Given the description of an element on the screen output the (x, y) to click on. 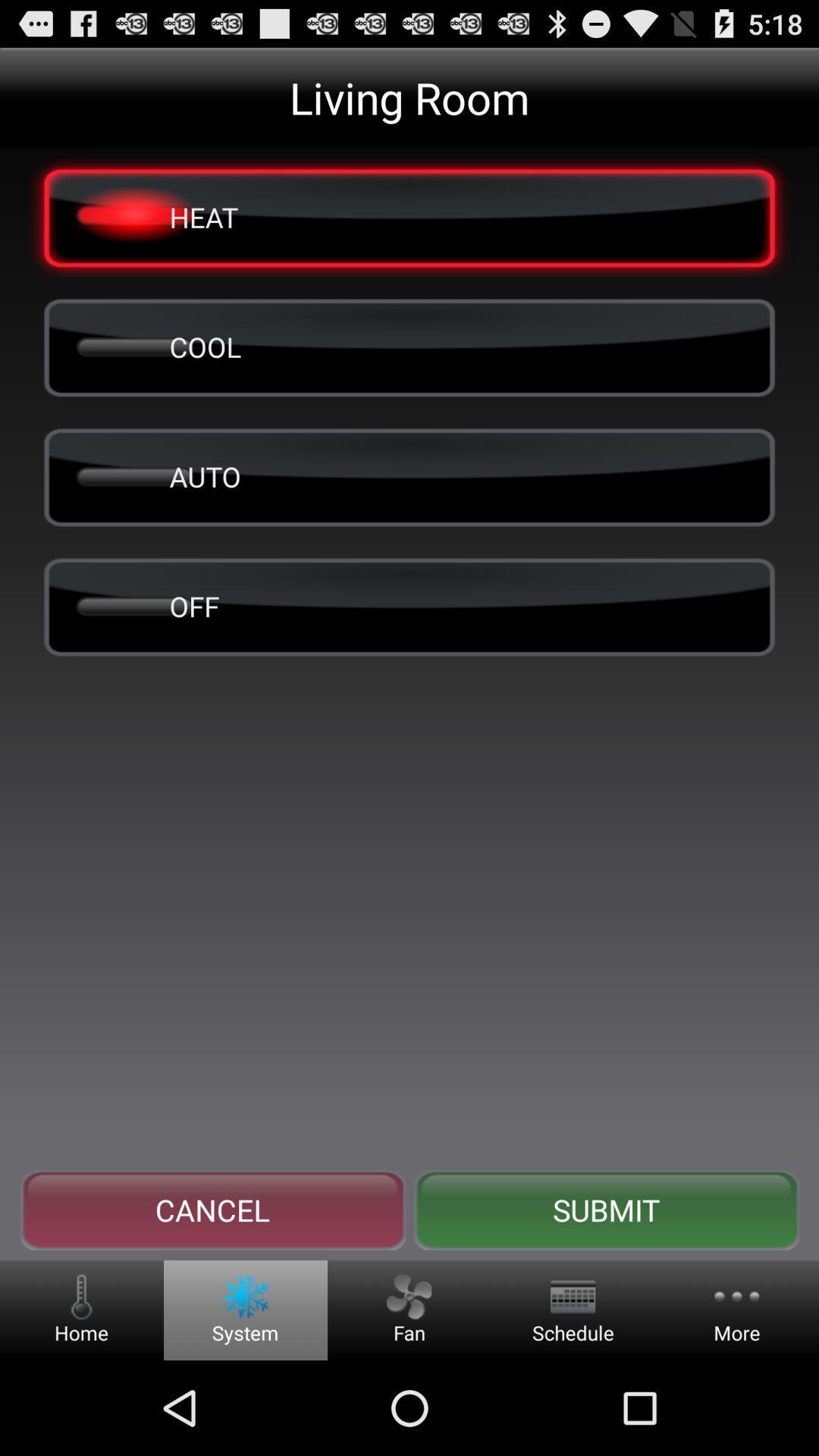
swipe to auto icon (409, 476)
